Given the description of an element on the screen output the (x, y) to click on. 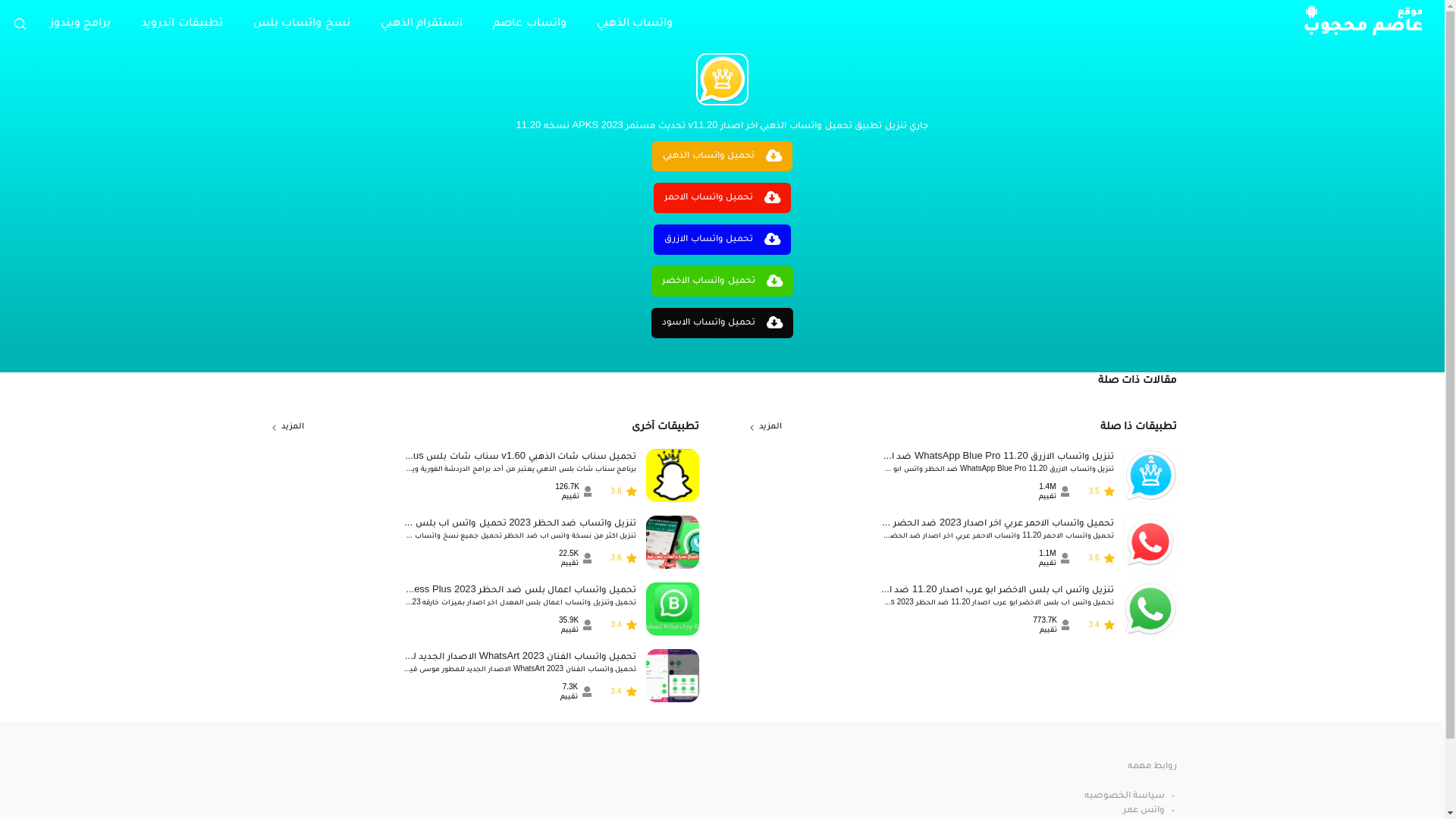
search button Element type: hover (19, 23)
